Given the description of an element on the screen output the (x, y) to click on. 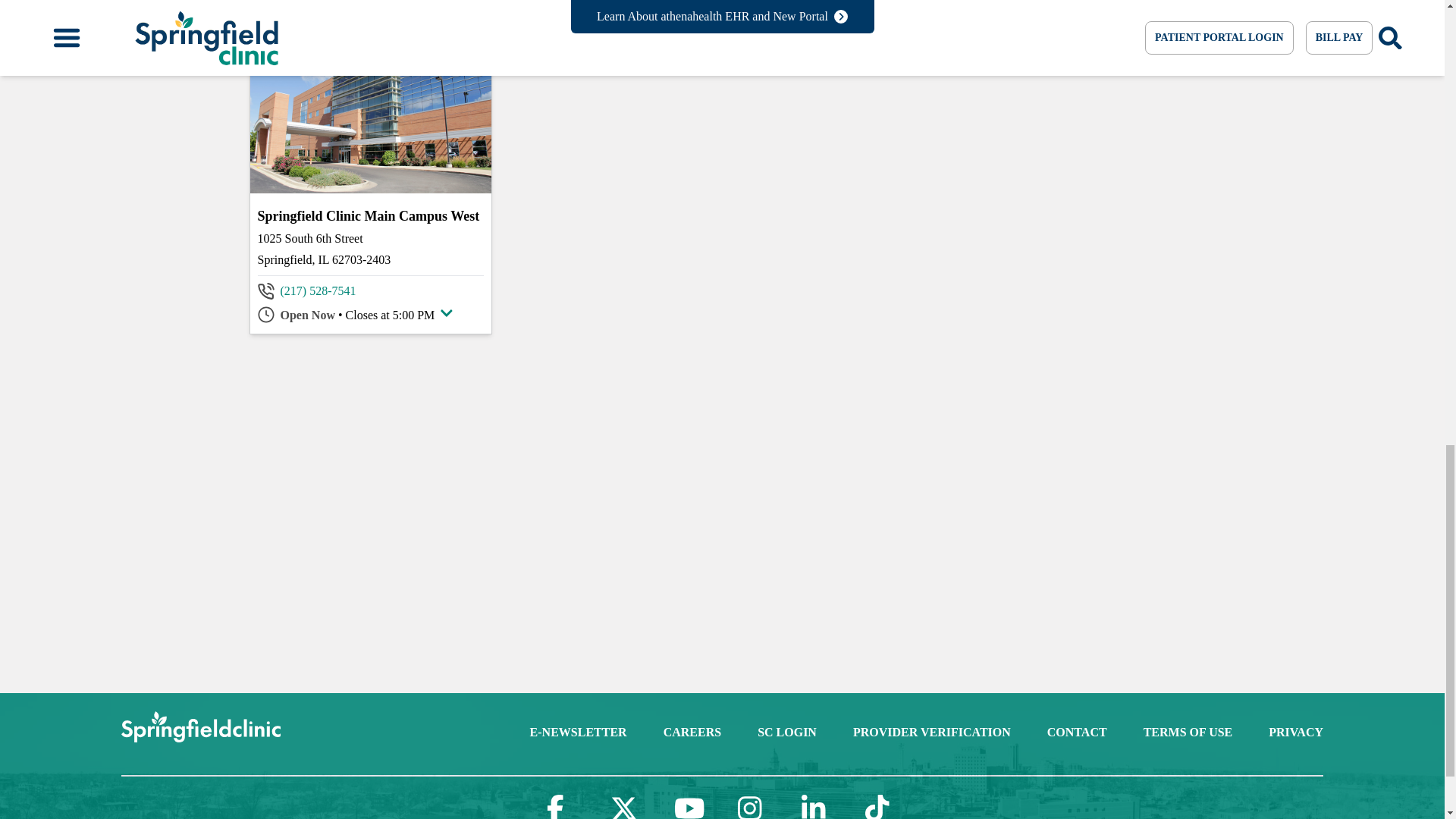
View Location (370, 215)
Springfield Clinic Main Campus West (370, 215)
Phone (318, 290)
Location Image (371, 124)
